Given the description of an element on the screen output the (x, y) to click on. 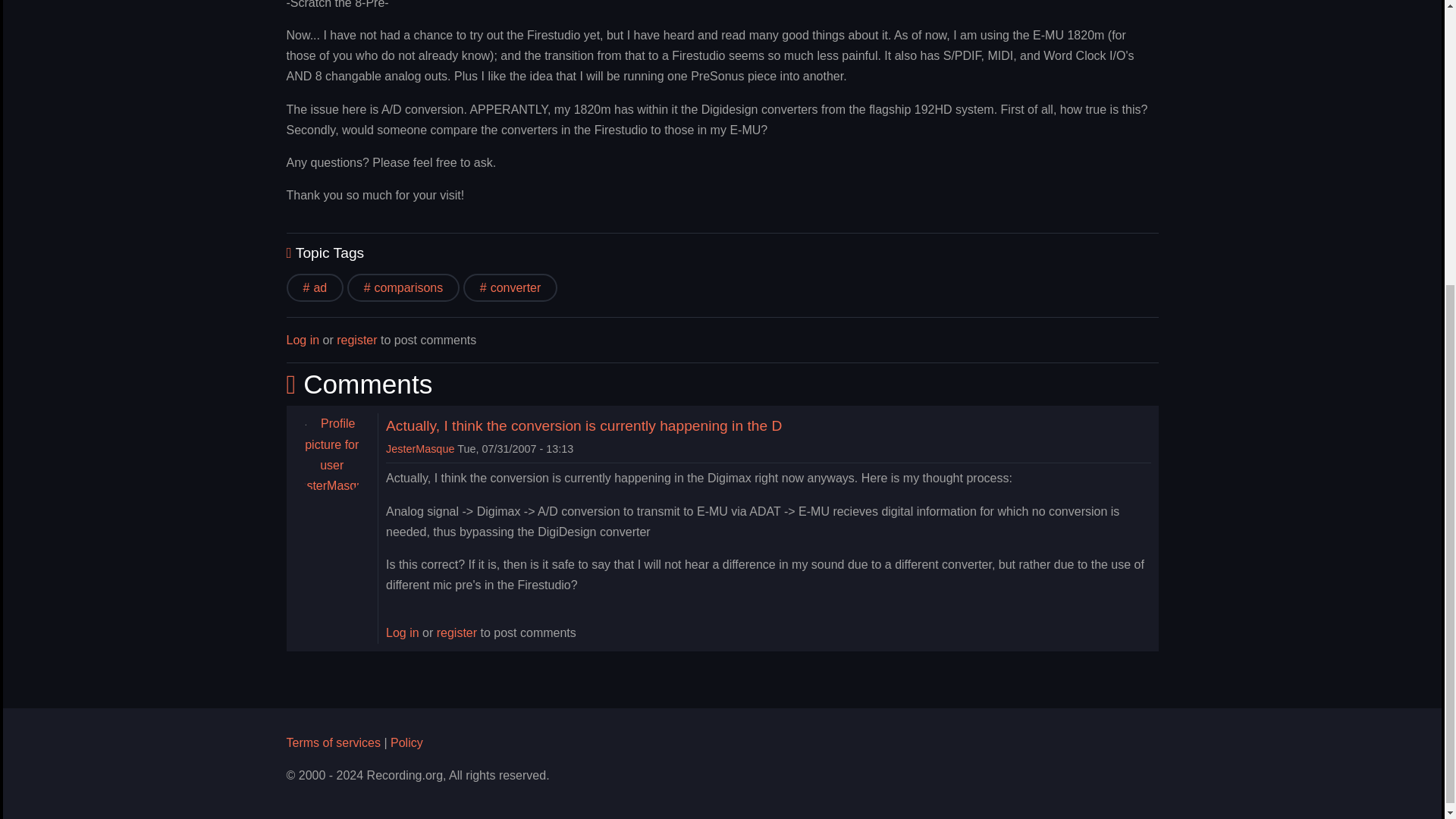
converter (510, 287)
comparisons (403, 287)
View user profile. (419, 449)
register (356, 340)
Log in (303, 340)
JesterMasque (419, 449)
Log in (402, 632)
register (456, 632)
ad (314, 287)
